Given the description of an element on the screen output the (x, y) to click on. 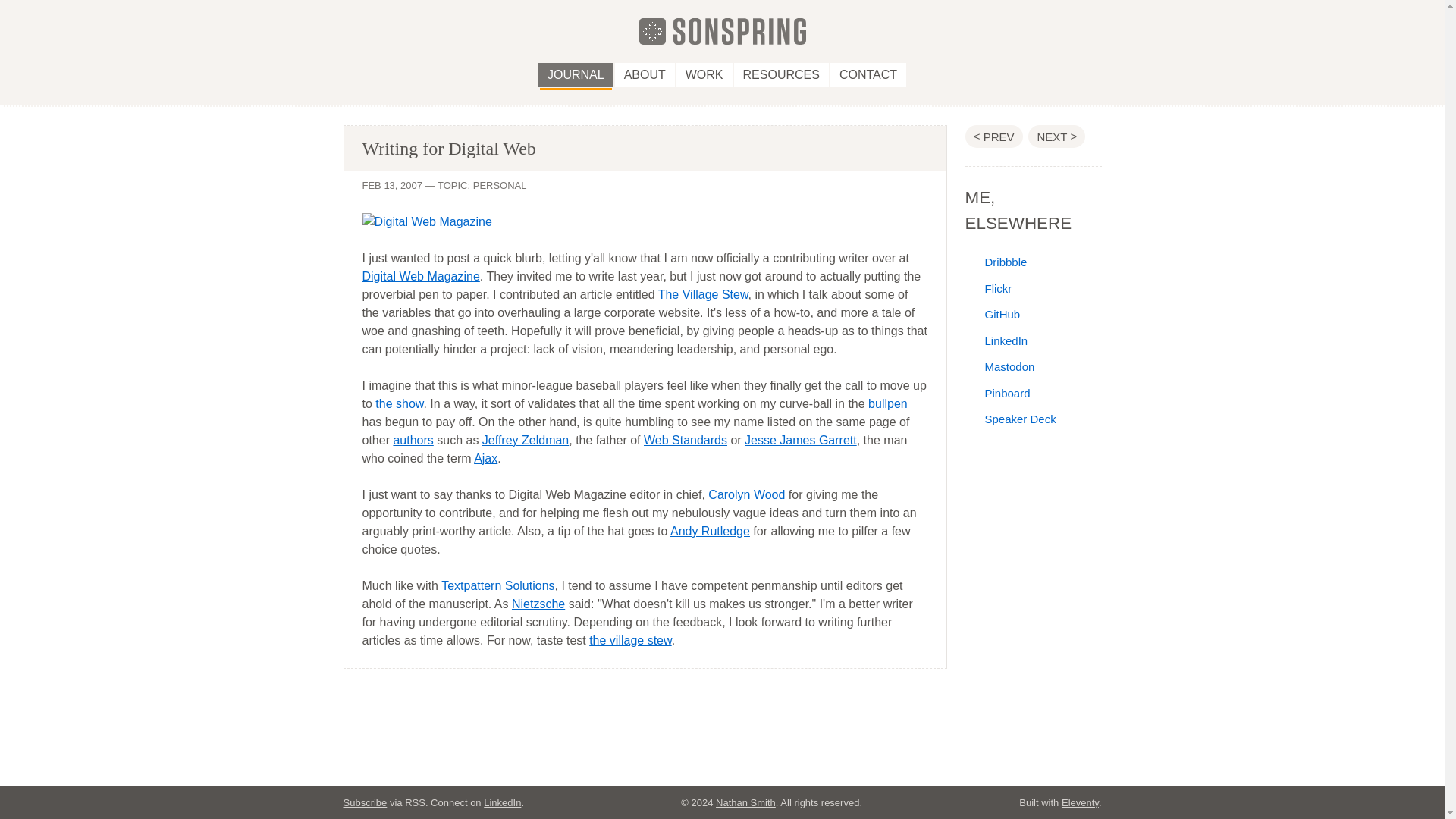
CONTACT (867, 74)
LinkedIn (995, 340)
Subscribe (364, 801)
LinkedIn (502, 801)
WORK (704, 74)
Flickr (987, 287)
Textpattern Solutions (497, 585)
RESOURCES (780, 74)
Jesse James Garrett (800, 440)
Andy Rutledge (709, 530)
PNG overlay (992, 136)
Web Standards (684, 440)
Carolyn Wood (745, 494)
RFP coaching (1055, 136)
Mastodon (998, 366)
